Given the description of an element on the screen output the (x, y) to click on. 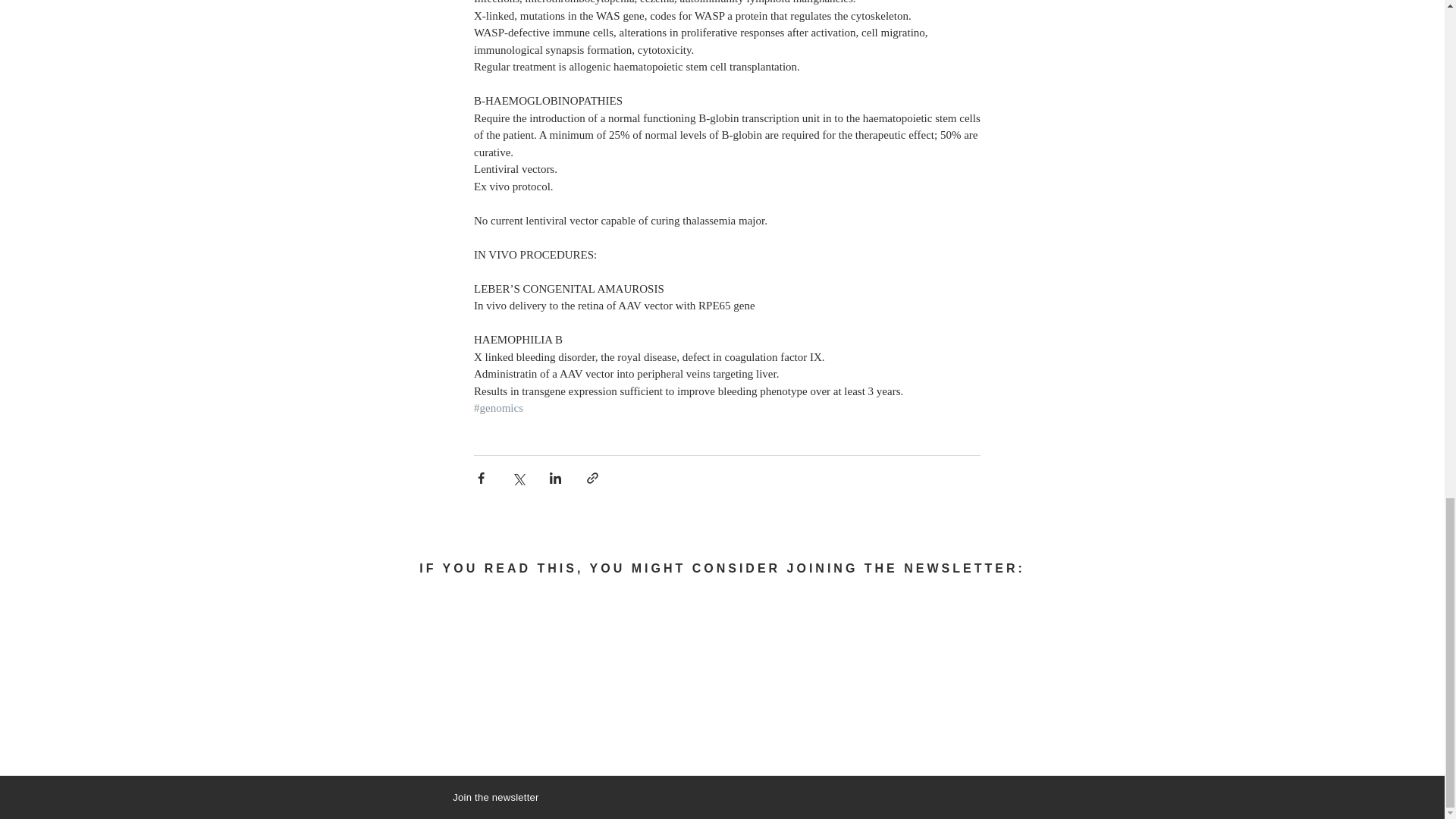
Join the newsletter (495, 797)
